Given the description of an element on the screen output the (x, y) to click on. 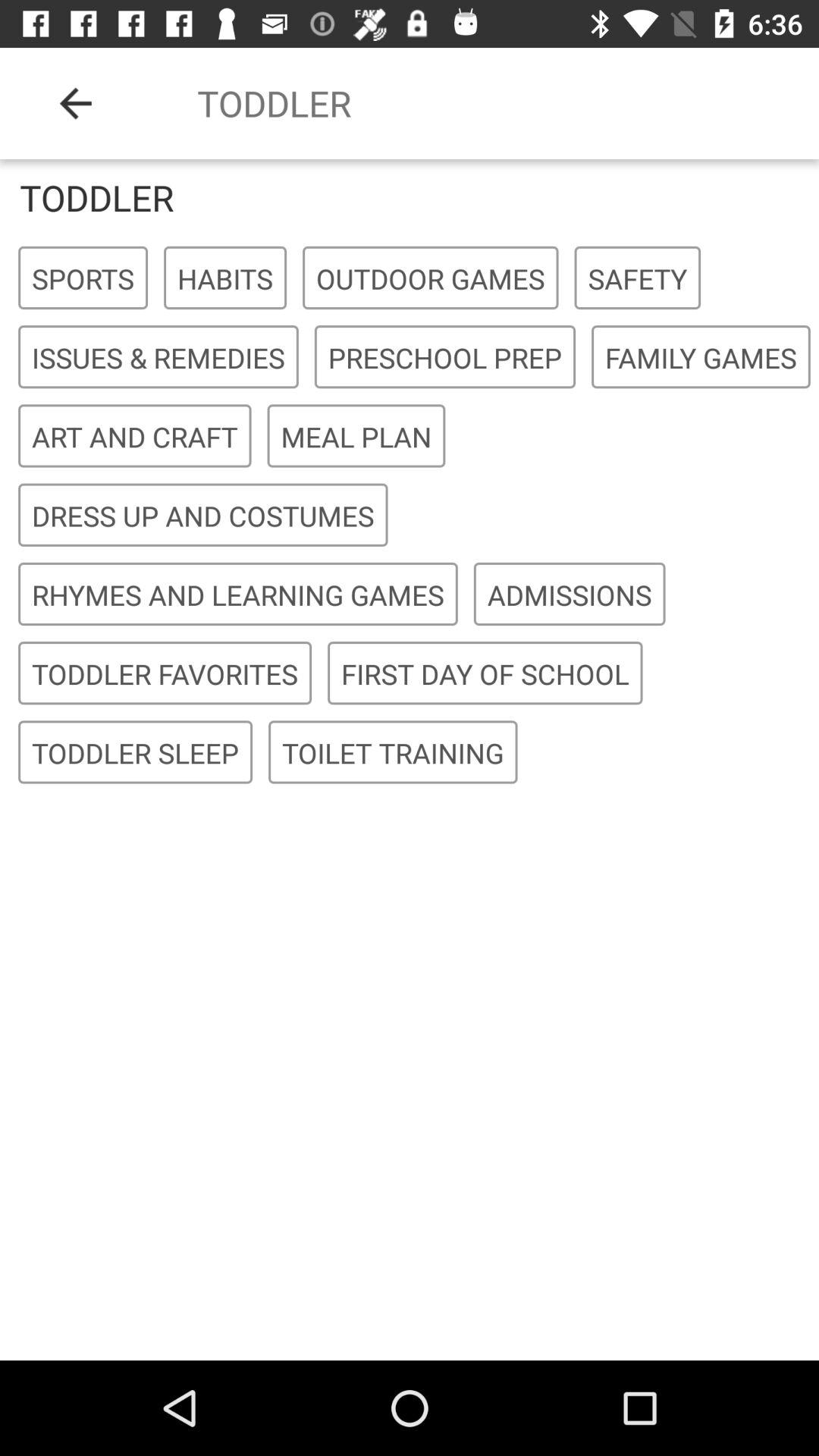
tap icon to the right of issues & remedies icon (444, 357)
